Given the description of an element on the screen output the (x, y) to click on. 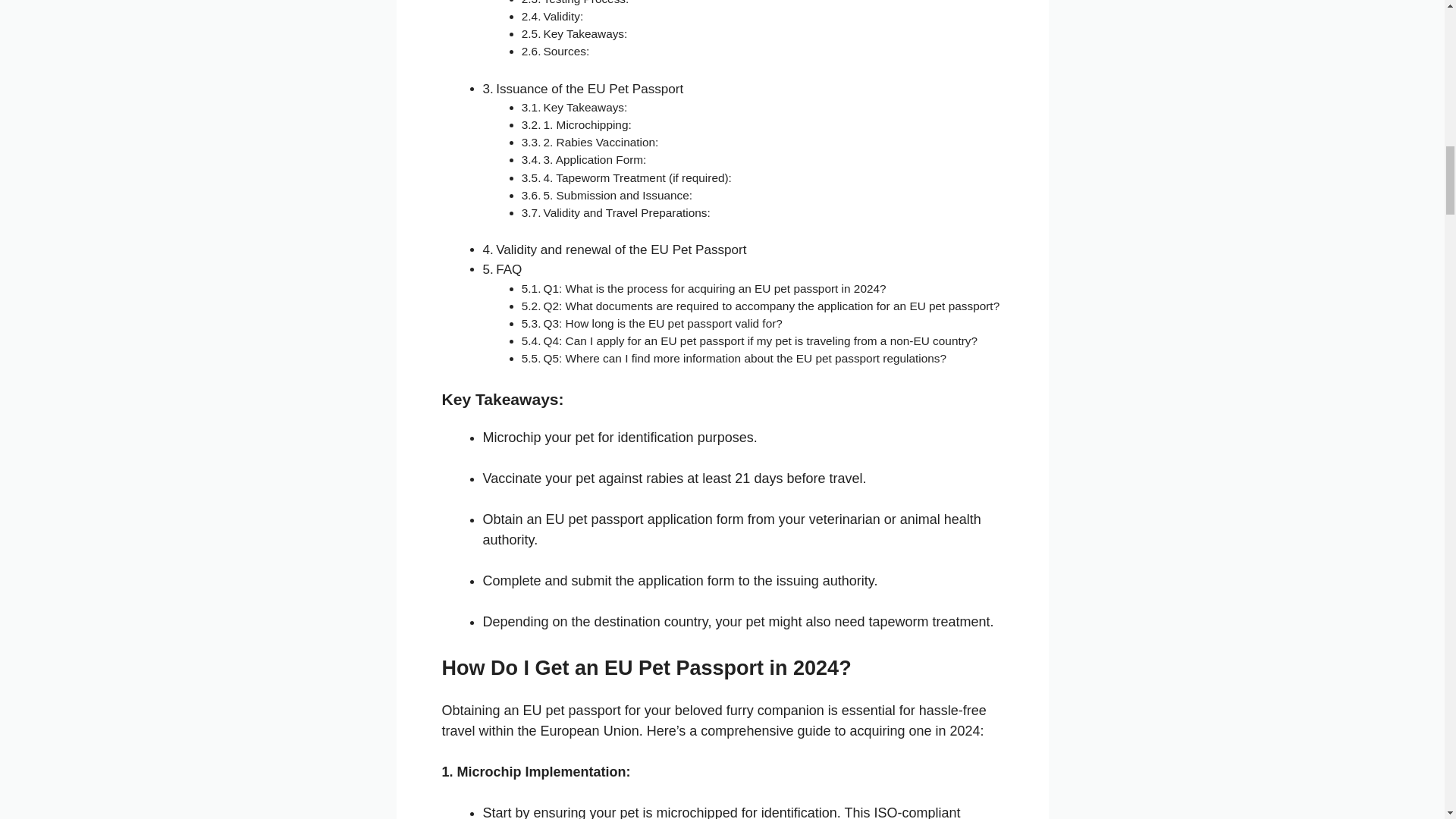
Key Takeaways: (585, 33)
Key Takeaways: (585, 33)
Validity: (563, 15)
Testing Process: (585, 2)
Sources: (566, 51)
1. Microchipping: (587, 124)
Sources: (566, 51)
Issuance of the EU Pet Passport (589, 88)
Key Takeaways: (585, 106)
Key Takeaways: (585, 106)
Issuance of the EU Pet Passport (589, 88)
Testing Process: (585, 2)
Validity: (563, 15)
